Given the description of an element on the screen output the (x, y) to click on. 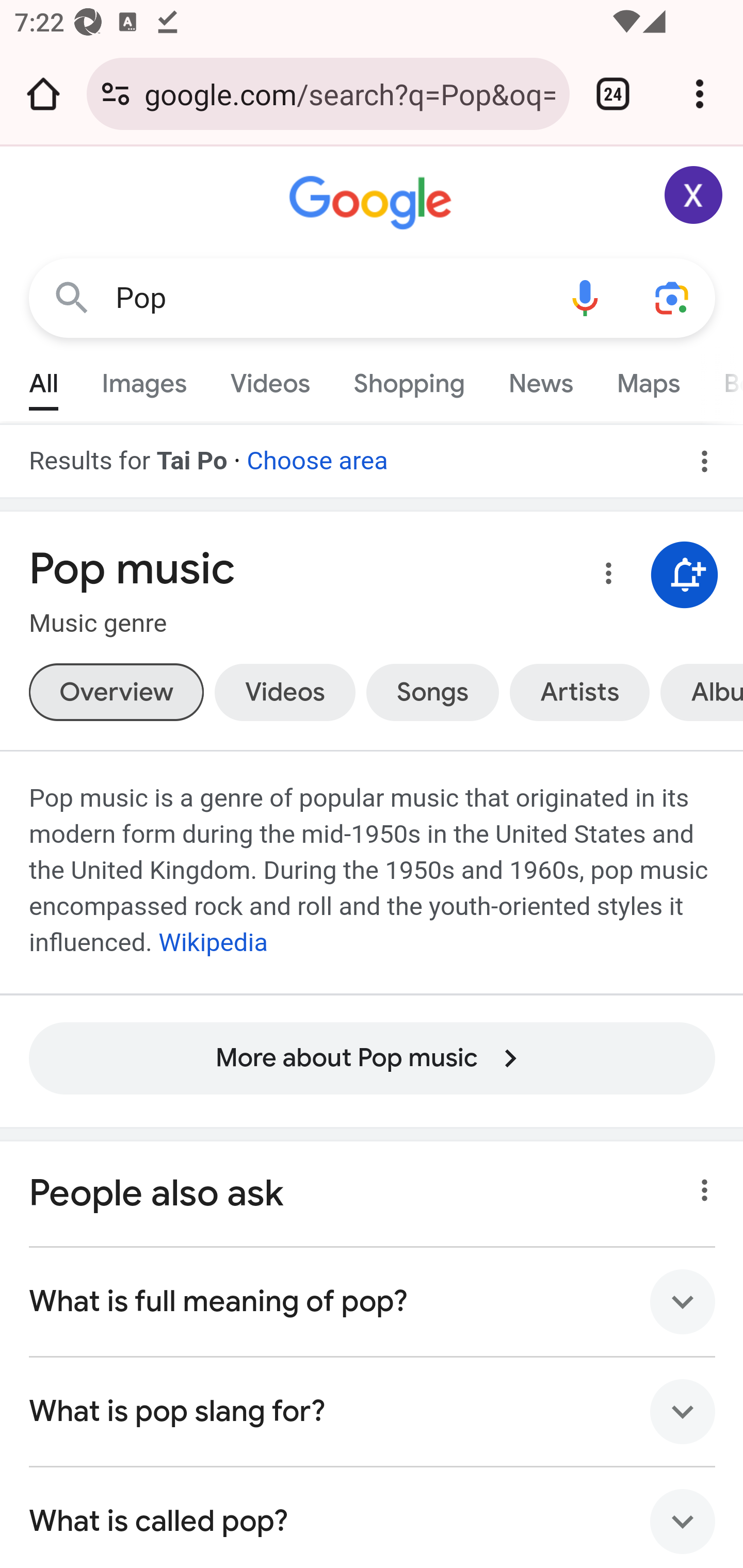
Open the home page (43, 93)
Connection is secure (115, 93)
Switch or close tabs (612, 93)
Customize and control Google Chrome (699, 93)
Google (372, 203)
Google Account: Xiaoran (zxrappiumtest@gmail.com) (694, 195)
Google Search (71, 296)
Search using your camera or photos (672, 296)
Pop (328, 297)
Images (144, 378)
Videos (270, 378)
Shopping (408, 378)
News (540, 378)
Maps (647, 378)
Choose area (316, 453)
Get notifications about Pop music (684, 575)
More options (605, 576)
Overview (116, 691)
Videos (284, 691)
Songs (431, 691)
Artists (579, 691)
Wikipedia (212, 943)
More about Pop music (371, 1074)
About this result (698, 1185)
What is full meaning of pop? (372, 1301)
What is pop slang for? (372, 1412)
What is called pop? (372, 1517)
